Given the description of an element on the screen output the (x, y) to click on. 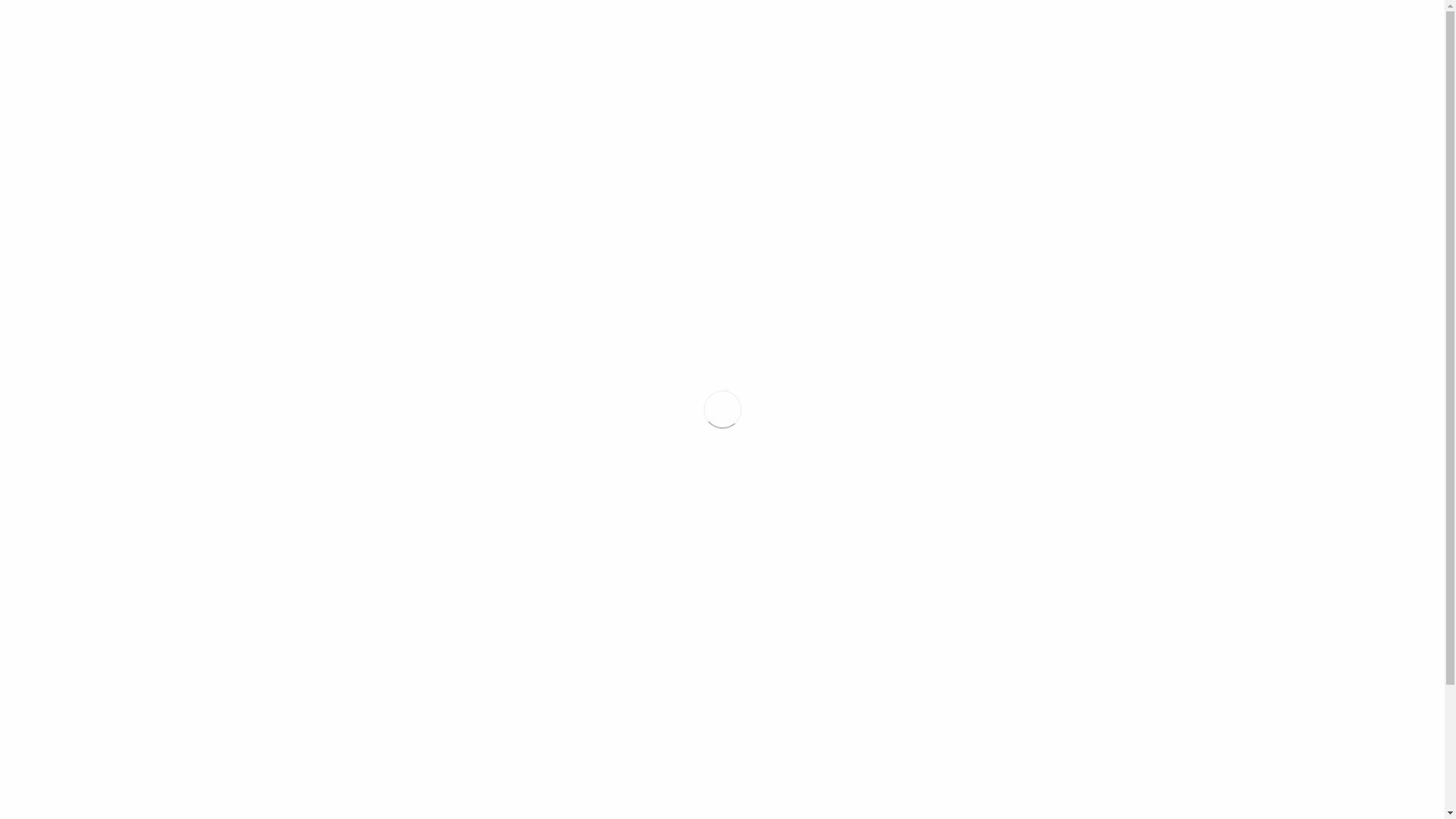
HOME Element type: text (992, 5)
PRODUCTS Element type: text (1059, 5)
FABRICATION Element type: text (1144, 5)
INFO Element type: text (630, 342)
DIMENSIONS Element type: text (561, 342)
MTR Element type: text (1257, 5)
BACK TO PRODUCTS Element type: text (1095, 134)
SEARCH Element type: text (1388, 5)
CONTACT Element type: text (1315, 5)
CRN Element type: text (1212, 5)
